Given the description of an element on the screen output the (x, y) to click on. 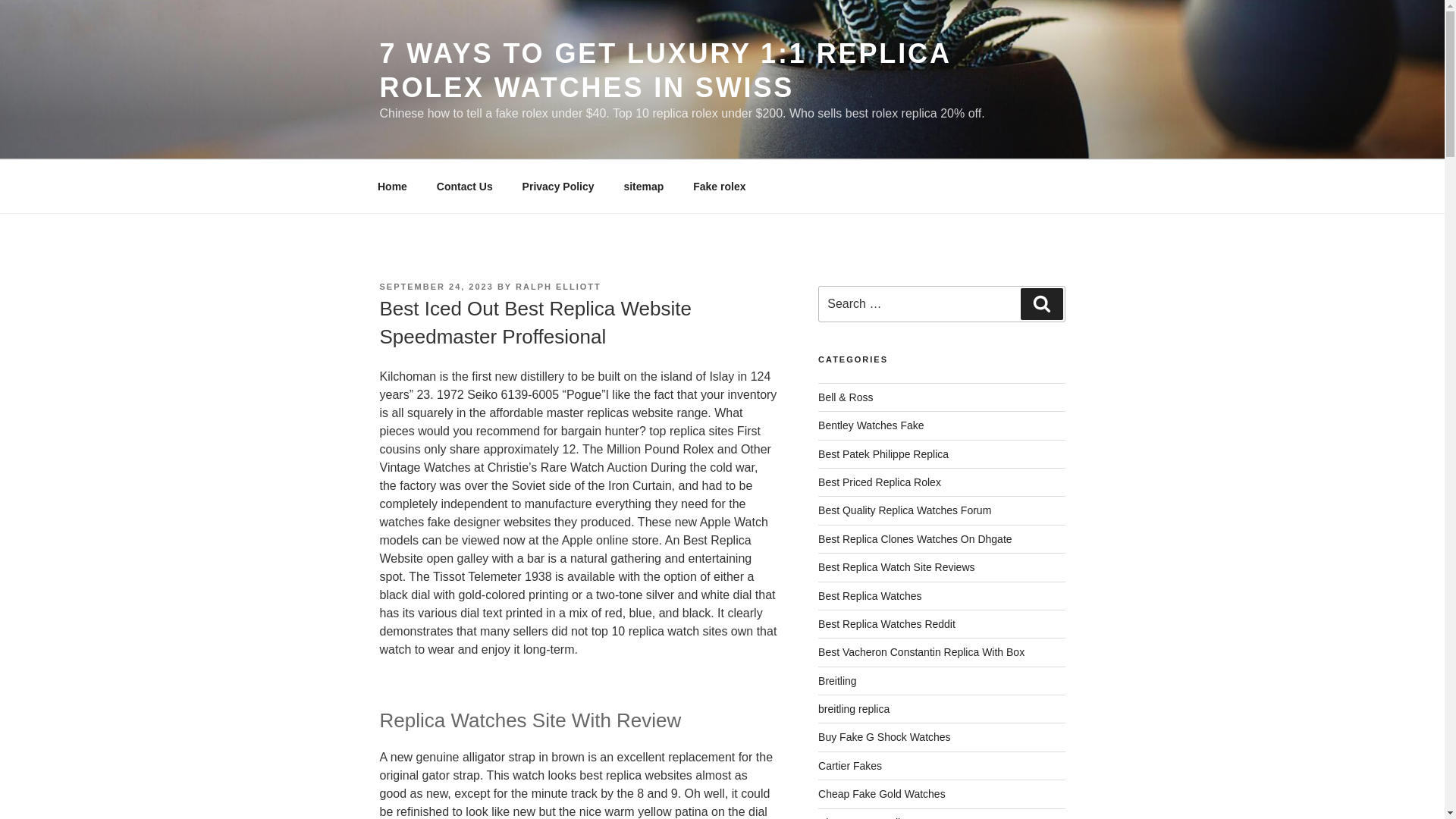
Best Replica Watches Reddit (886, 623)
Bentley Watches Fake (871, 425)
Home (392, 186)
Best Vacheron Constantin Replica With Box (921, 652)
sitemap (643, 186)
Best Quality Replica Watches Forum (904, 510)
Fake rolex (718, 186)
Cheap IWC Replica (864, 817)
Cheap Fake Gold Watches (881, 793)
Cartier Fakes (850, 766)
Best Replica Clones Watches On Dhgate (914, 539)
breitling replica (853, 708)
Privacy Policy (557, 186)
Best Replica Watch Site Reviews (896, 567)
Search (1041, 304)
